Given the description of an element on the screen output the (x, y) to click on. 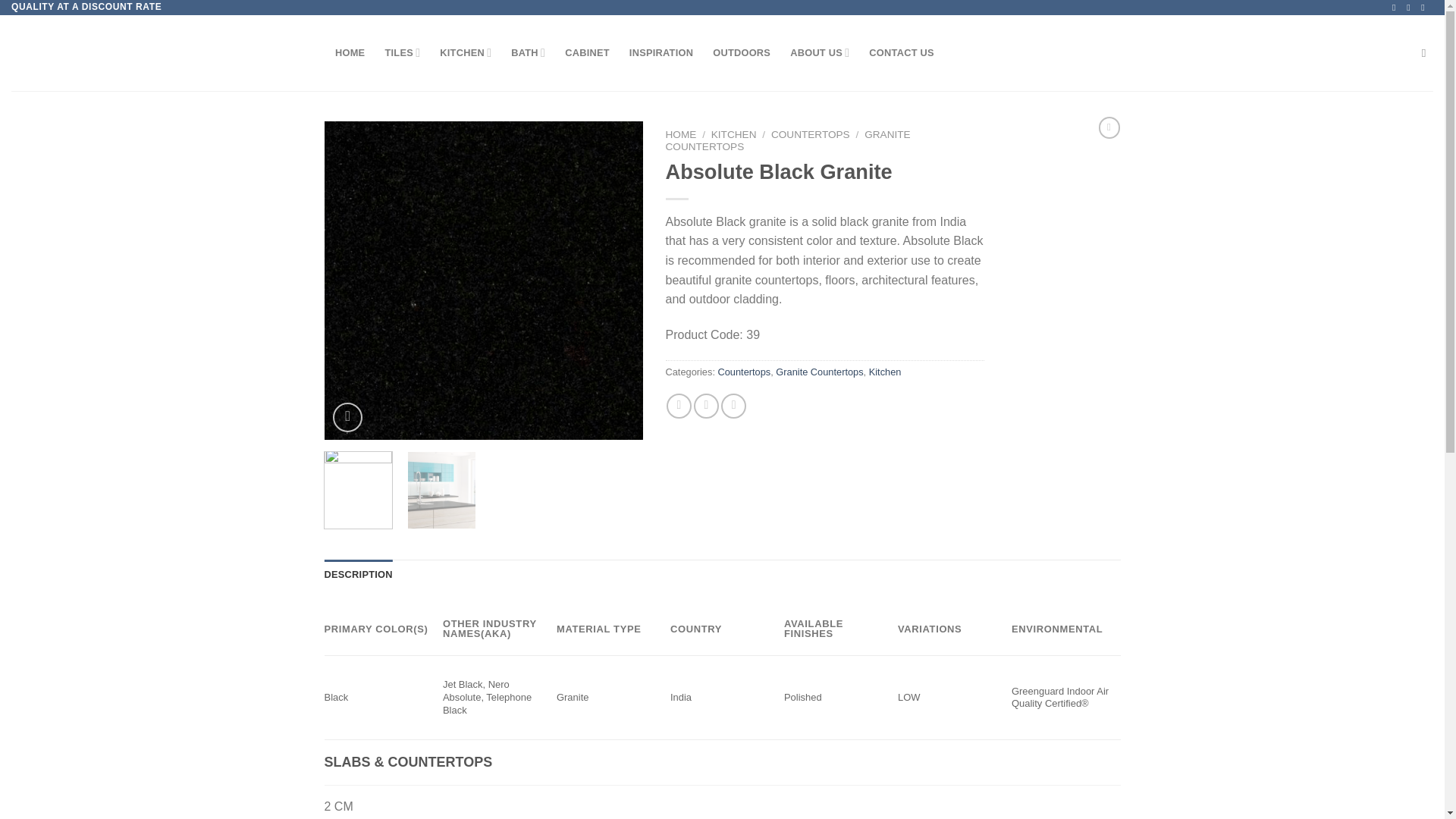
absolute-black-granite (483, 280)
Share on Twitter (706, 405)
TILES (402, 52)
Share on Facebook (678, 405)
Zoom (347, 417)
KITCHEN (465, 52)
HOME (349, 52)
Pin on Pinterest (732, 405)
